Given the description of an element on the screen output the (x, y) to click on. 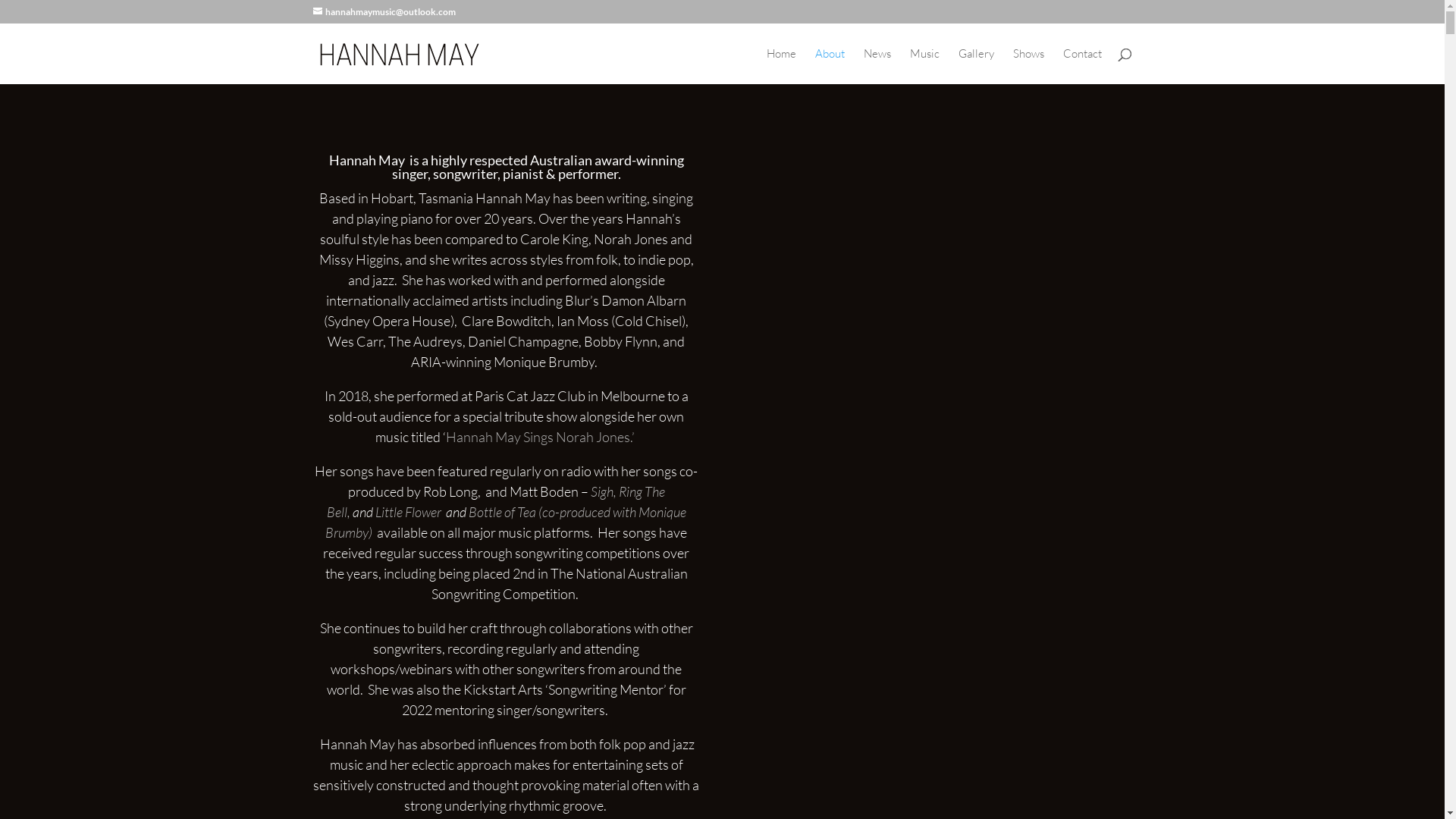
 Bottle of Tea (co-produced with Monique Brumby)  Element type: text (505, 521)
Little Flower  Element type: text (409, 511)
Ring The Bell, Element type: text (495, 501)
Home Element type: text (780, 66)
News Element type: text (876, 66)
About Element type: text (829, 66)
Gallery Element type: text (976, 66)
 Sigh, Element type: text (602, 491)
Contact Element type: text (1082, 66)
Shows Element type: text (1028, 66)
Music Element type: text (924, 66)
hannahmaymusic@outlook.com Element type: text (383, 11)
